Given the description of an element on the screen output the (x, y) to click on. 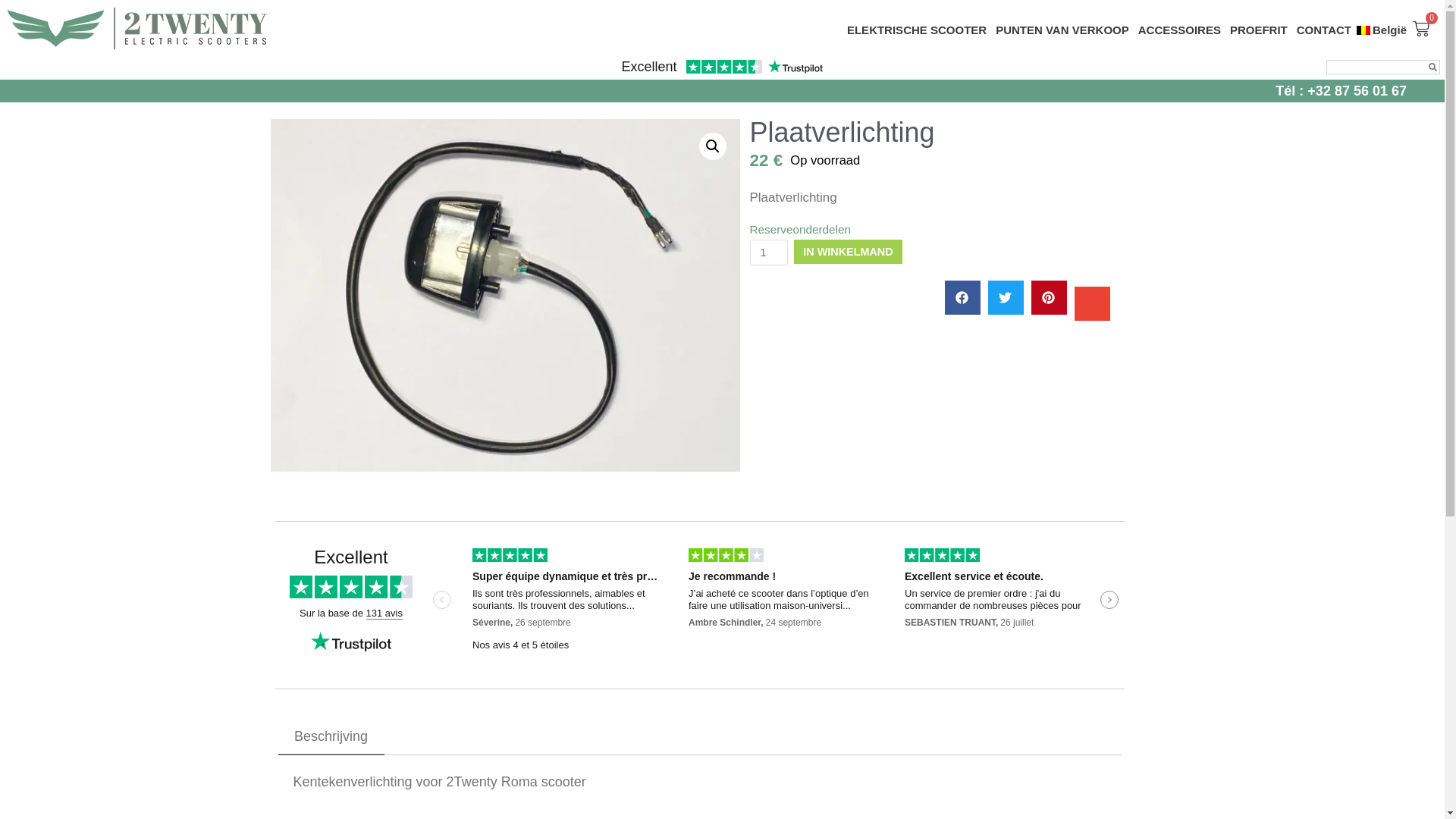
Search Element type: hover (1376, 66)
Reserveonderdelen Element type: text (799, 228)
Aantal Element type: hover (768, 252)
ELEKTRISCHE SCOOTER Element type: text (916, 30)
PROEFRIT Element type: text (1258, 30)
Customer reviews powered by Trustpilot Element type: hover (721, 68)
CONTACT Element type: text (1323, 30)
Plaat-verlichting-4.jpg Element type: hover (504, 294)
PUNTEN VAN VERKOOP Element type: text (1062, 30)
Customer reviews powered by Trustpilot Element type: hover (698, 605)
ACCESSOIRES Element type: text (1179, 30)
Search Element type: hover (1432, 66)
Spring naar de inhoud Element type: text (15, 7)
Beschrijving Element type: text (330, 736)
IN WINKELMAND Element type: text (847, 251)
